Given the description of an element on the screen output the (x, y) to click on. 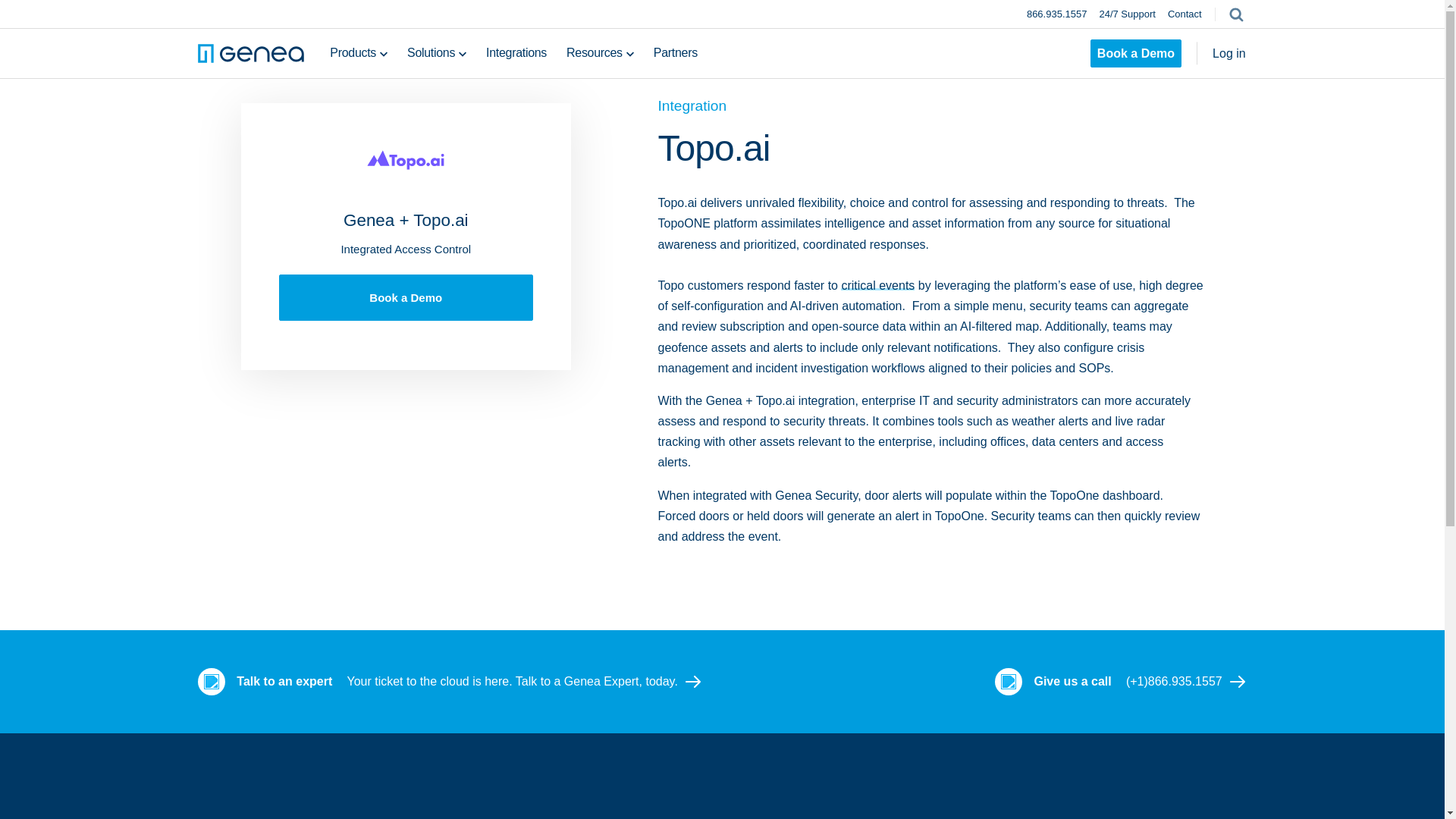
Products (352, 53)
Contact (1184, 14)
866.935.1557 (1056, 14)
